Given the description of an element on the screen output the (x, y) to click on. 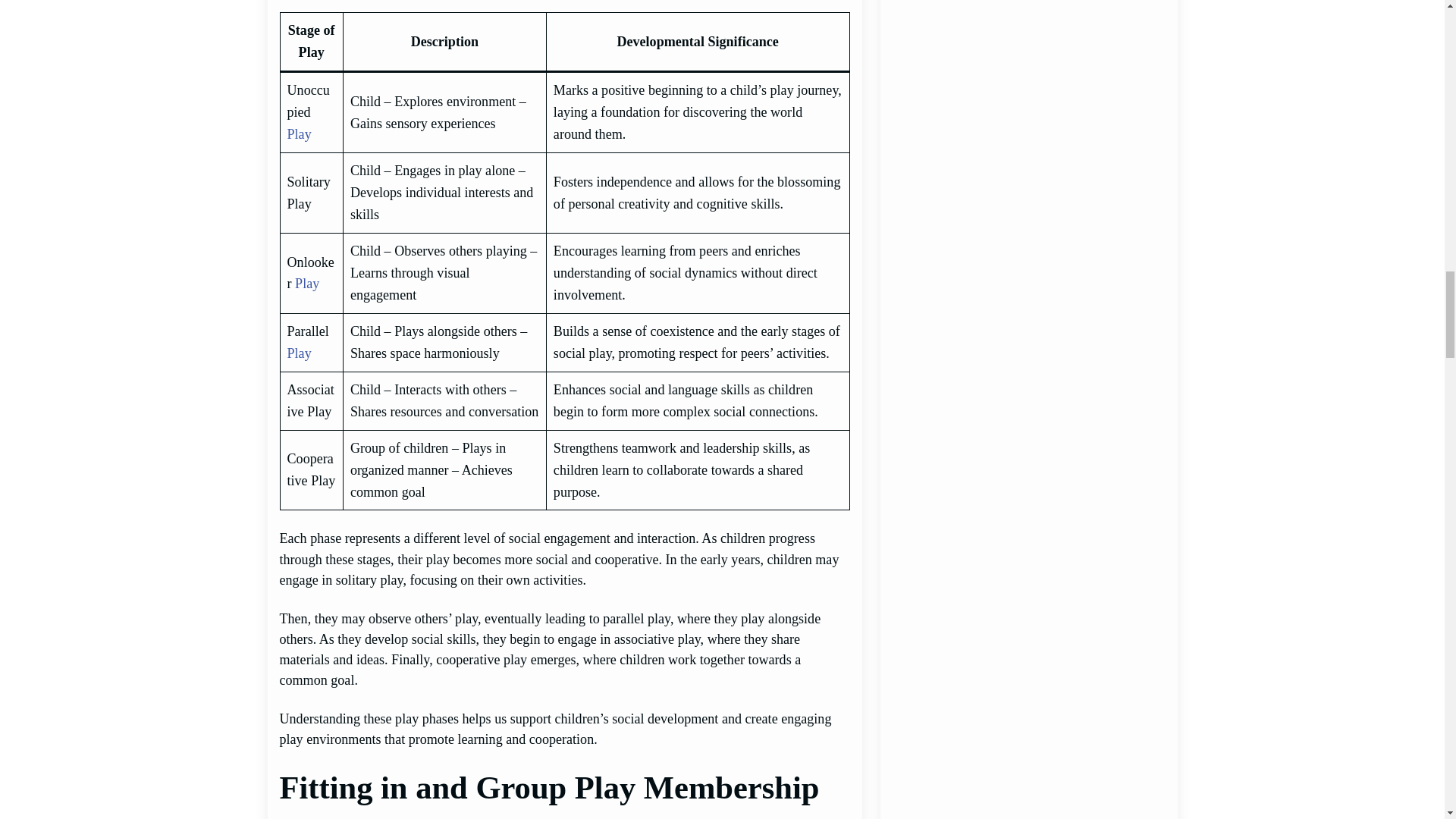
Best Toys For 3 Month Old Babies 20 (1027, 41)
Play (298, 133)
Play (298, 353)
Play (306, 283)
